Given the description of an element on the screen output the (x, y) to click on. 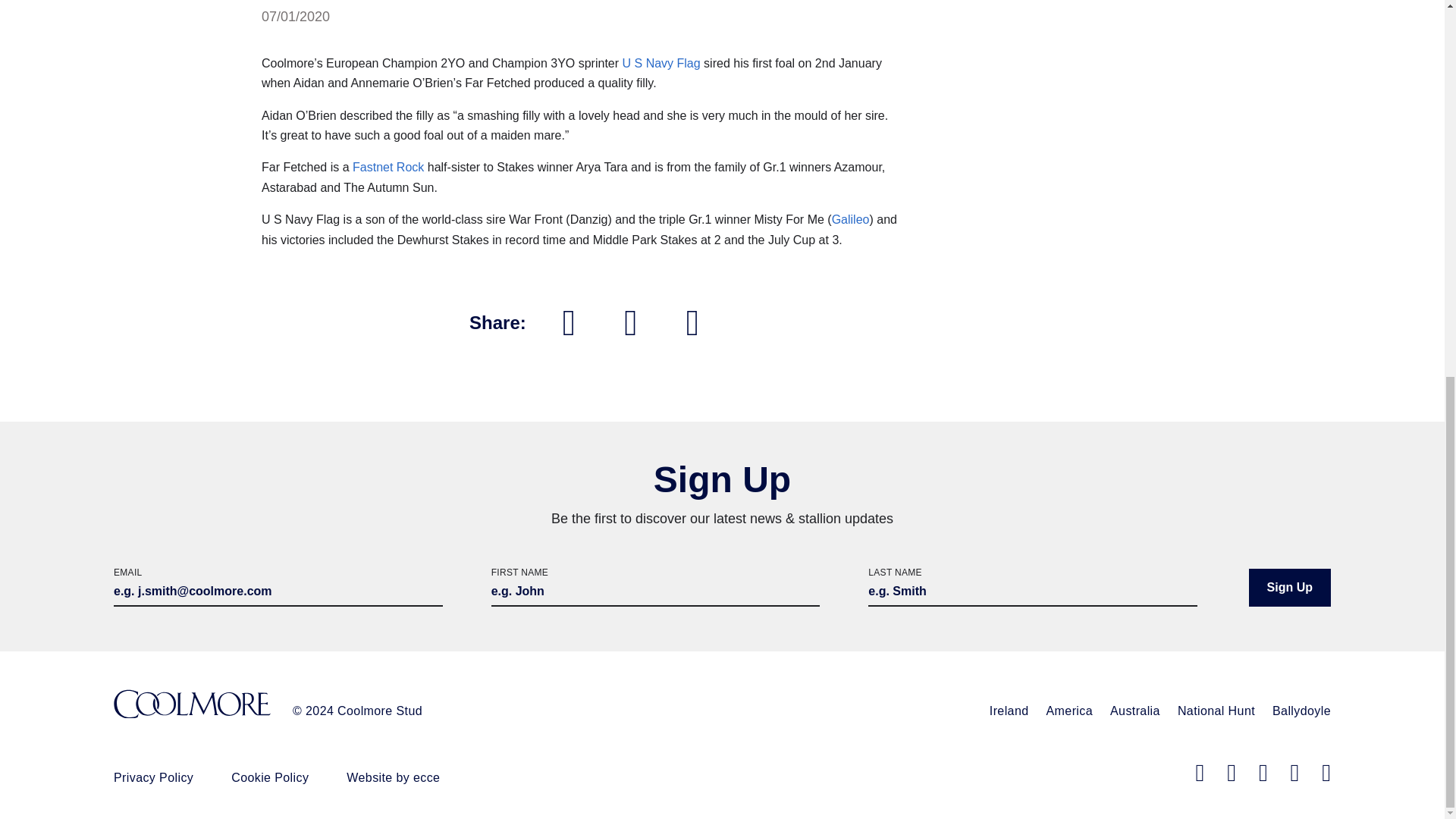
National Hunt (1216, 710)
Galileo (850, 219)
Coolmore (191, 705)
Sign Up (1289, 587)
Ireland (1009, 710)
Privacy Policy (153, 777)
America (1069, 710)
Australia (1134, 710)
Website by ecce (392, 777)
Ballydoyle (1301, 710)
